Given the description of an element on the screen output the (x, y) to click on. 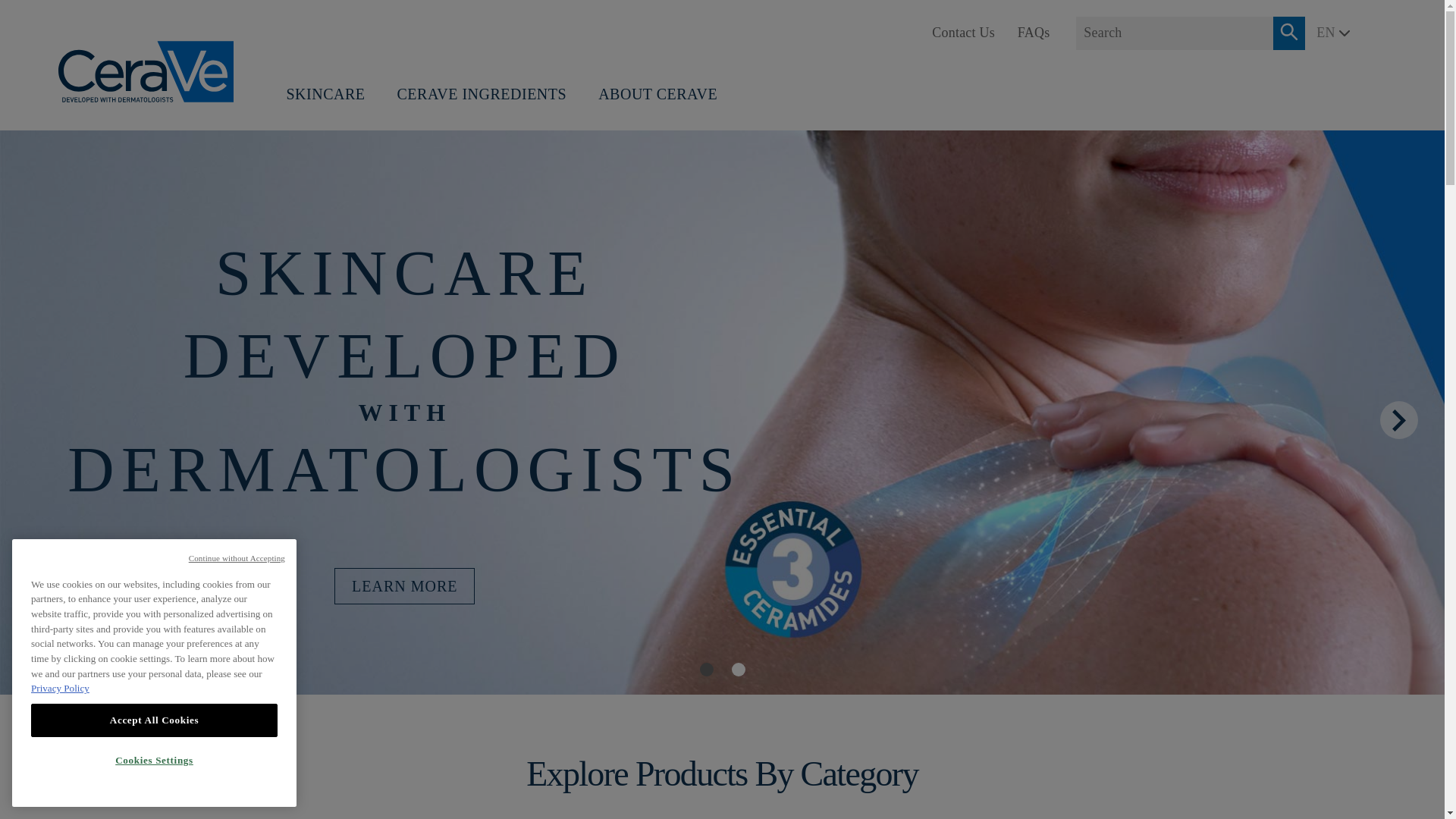
SKINCARE (324, 98)
FAQs (1033, 32)
CERAVE INGREDIENTS (482, 98)
Contact Us (962, 32)
